Given the description of an element on the screen output the (x, y) to click on. 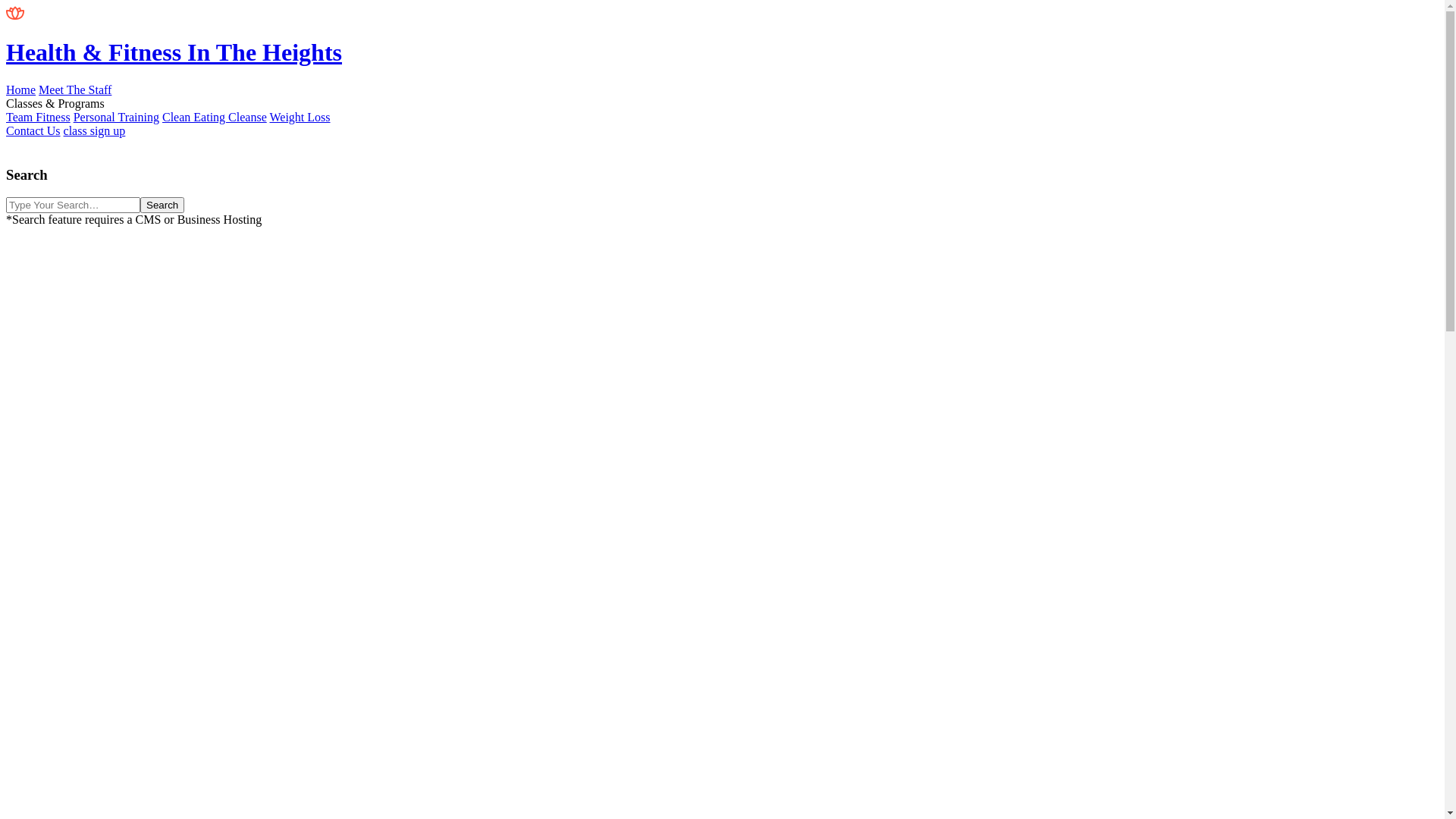
Team Fitness Element type: text (38, 116)
Meet The Staff Element type: text (74, 89)
Contact Us Element type: text (33, 130)
Health & Fitness In The Heights Element type: text (722, 37)
Weight Loss Element type: text (299, 116)
Home Element type: text (20, 89)
class sign up Element type: text (94, 130)
Search Element type: text (162, 205)
Clean Eating Cleanse Element type: text (214, 116)
Personal Training Element type: text (116, 116)
